Given the description of an element on the screen output the (x, y) to click on. 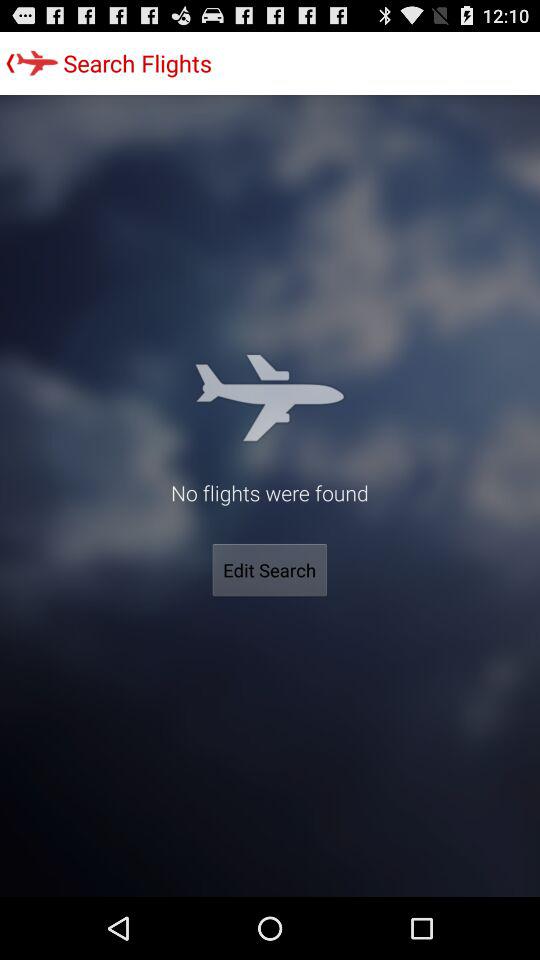
jump to the edit search (269, 569)
